Given the description of an element on the screen output the (x, y) to click on. 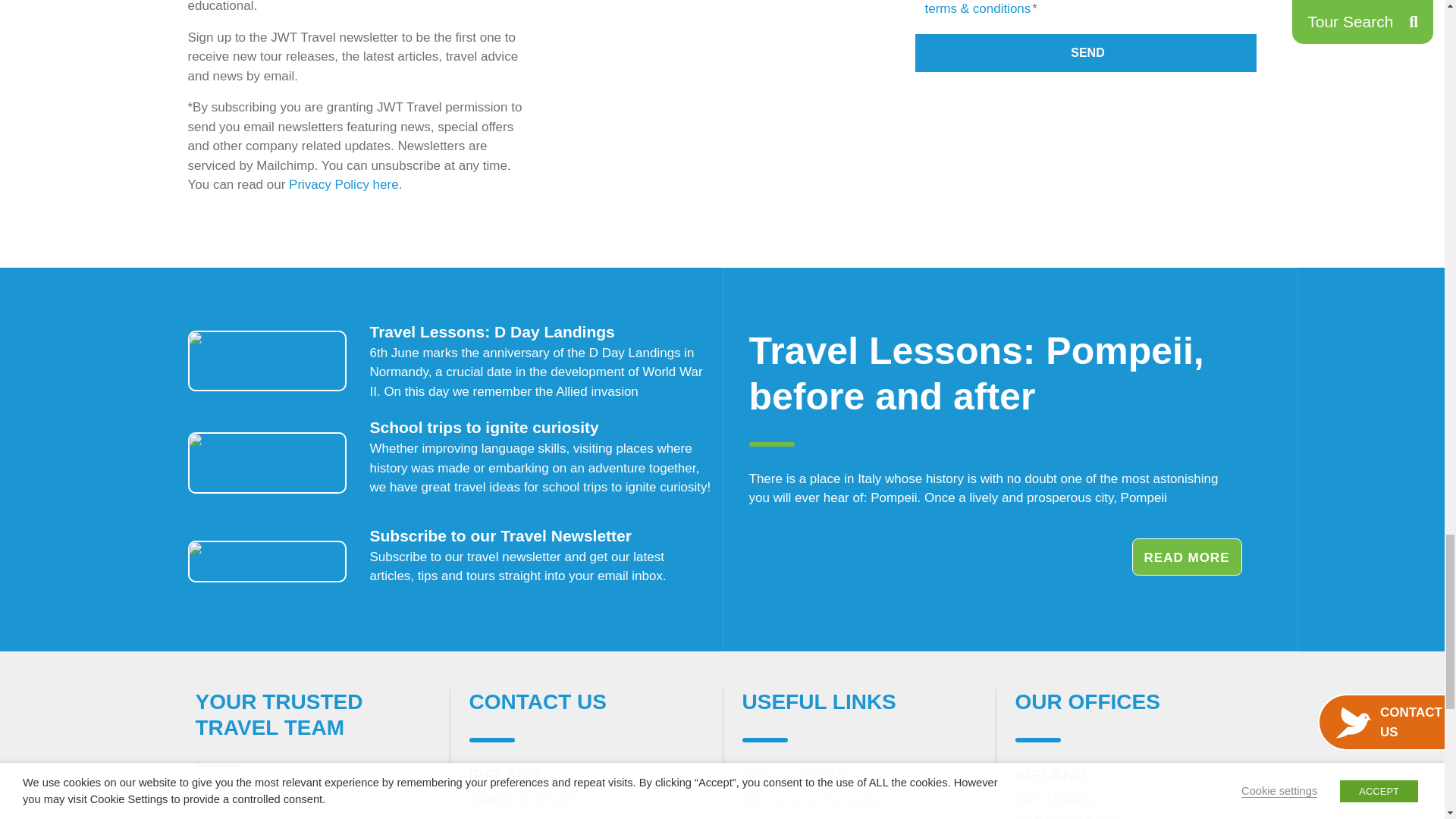
Send (1085, 53)
